Given the description of an element on the screen output the (x, y) to click on. 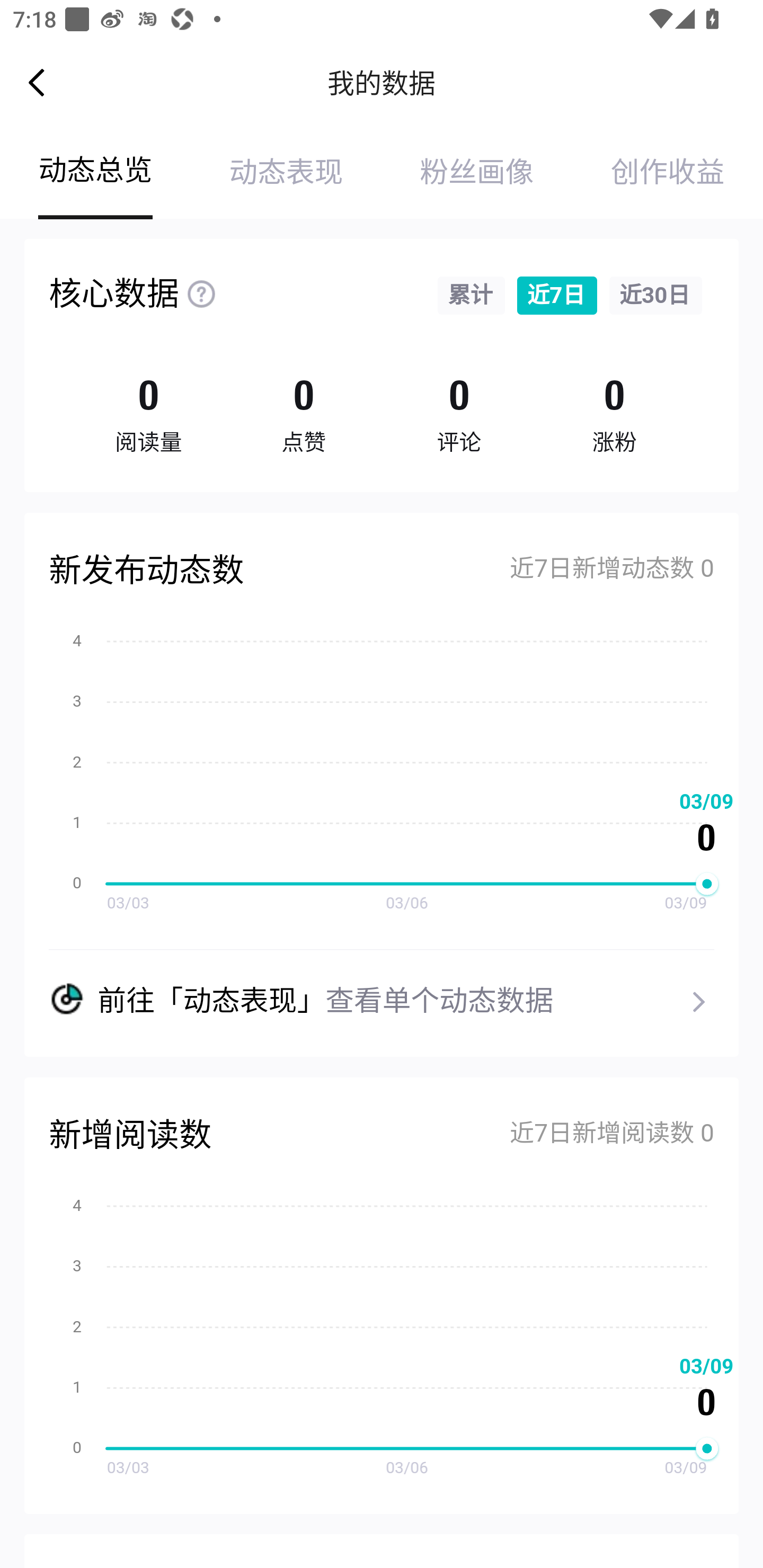
Navigate up (36, 82)
动态总览 (95, 173)
动态表现 (285, 173)
粉丝画像 (476, 173)
创作收益 (667, 173)
累计 (471, 295)
近7日 (556, 295)
近30日 (655, 295)
前往「动态表现」查看单个动态数据 (381, 986)
